Given the description of an element on the screen output the (x, y) to click on. 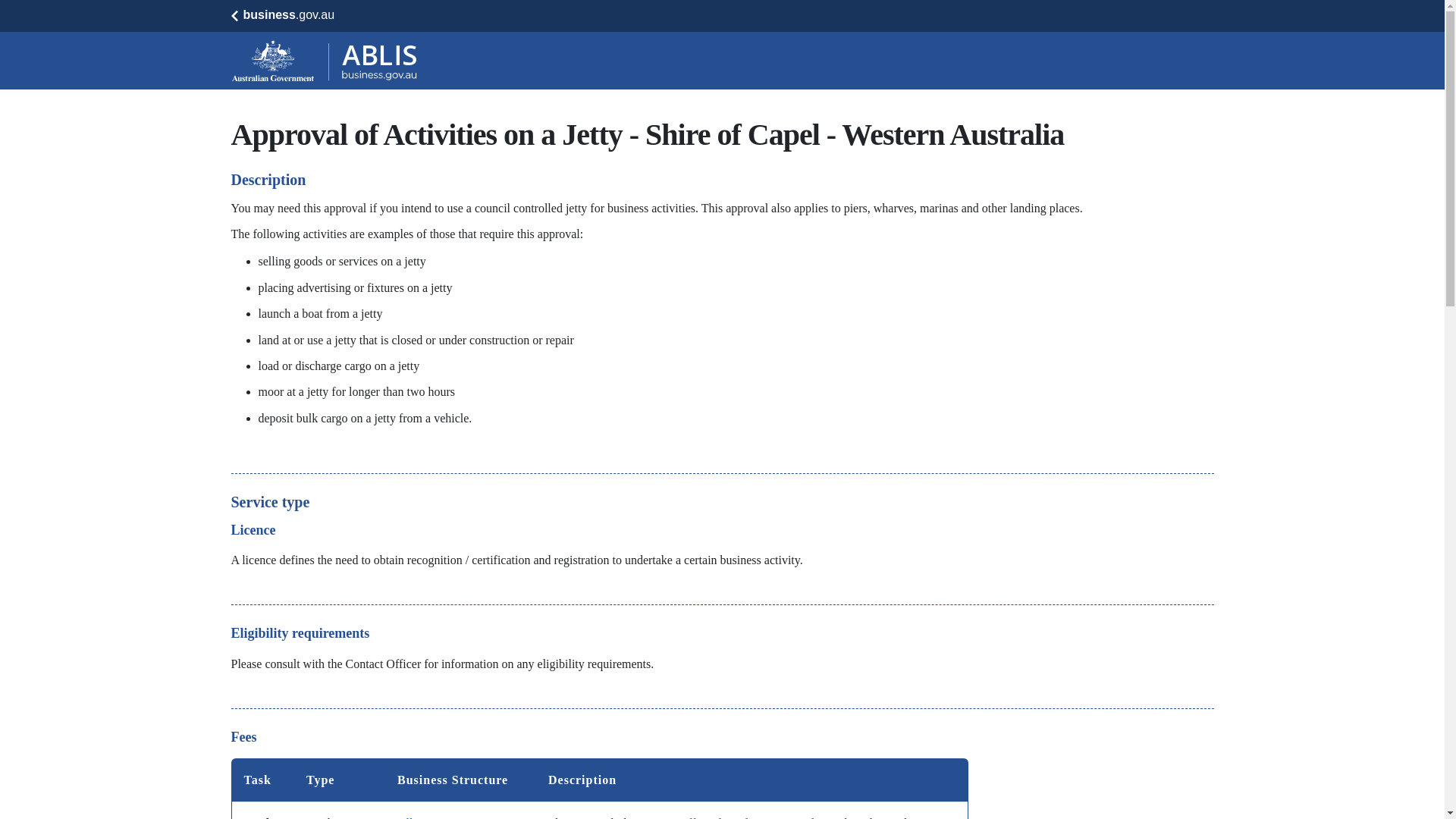
Fees for this service (599, 788)
All (404, 817)
business.gov.au (282, 15)
